Given the description of an element on the screen output the (x, y) to click on. 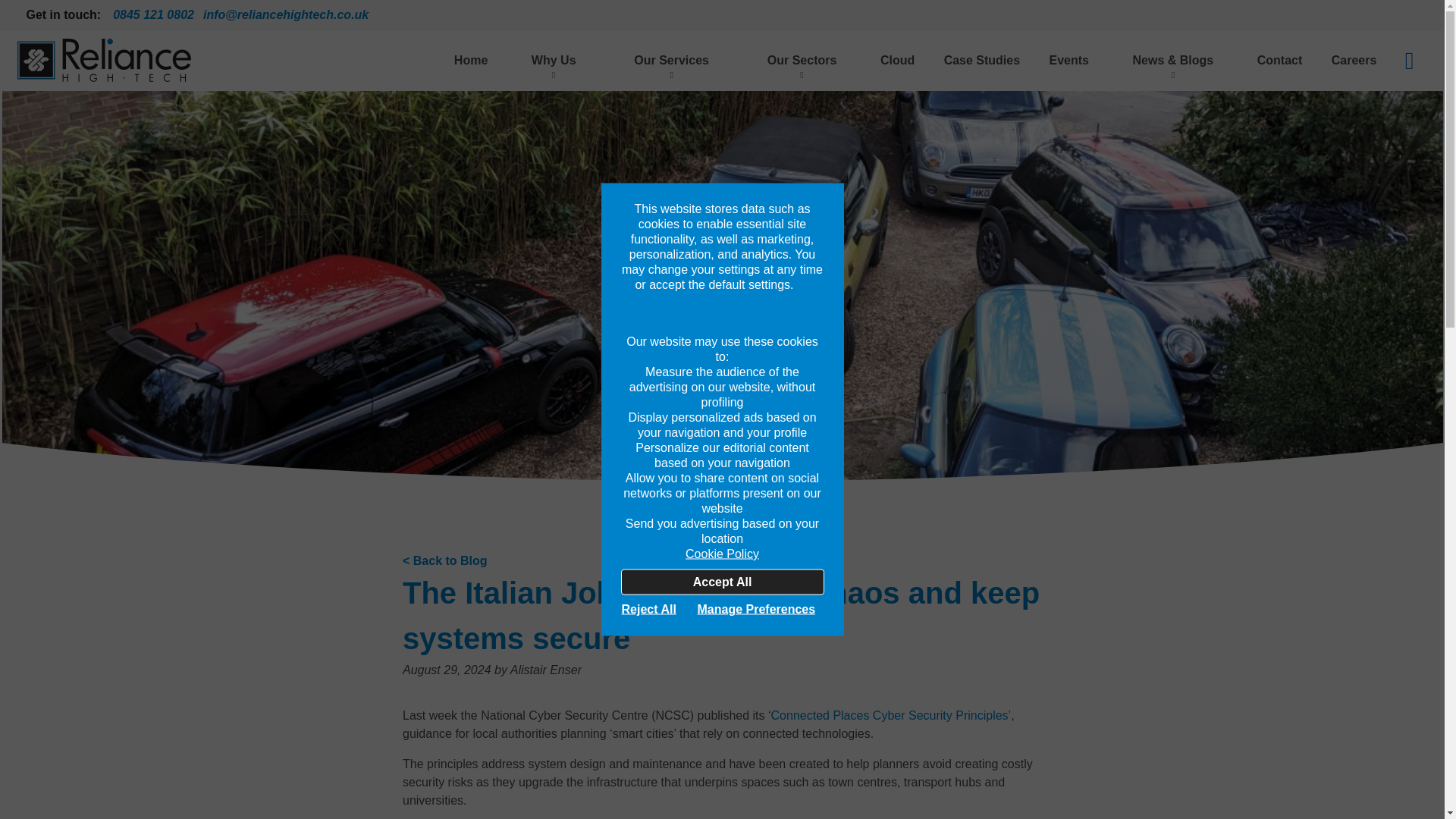
Our Sectors (801, 60)
Events (1068, 60)
Case Studies (980, 60)
Manage Preferences (759, 608)
Our Services (671, 60)
Accept All (722, 581)
Why Us (553, 60)
Reject All (656, 608)
0845 121 0802 (153, 14)
Contact (1280, 60)
